Given the description of an element on the screen output the (x, y) to click on. 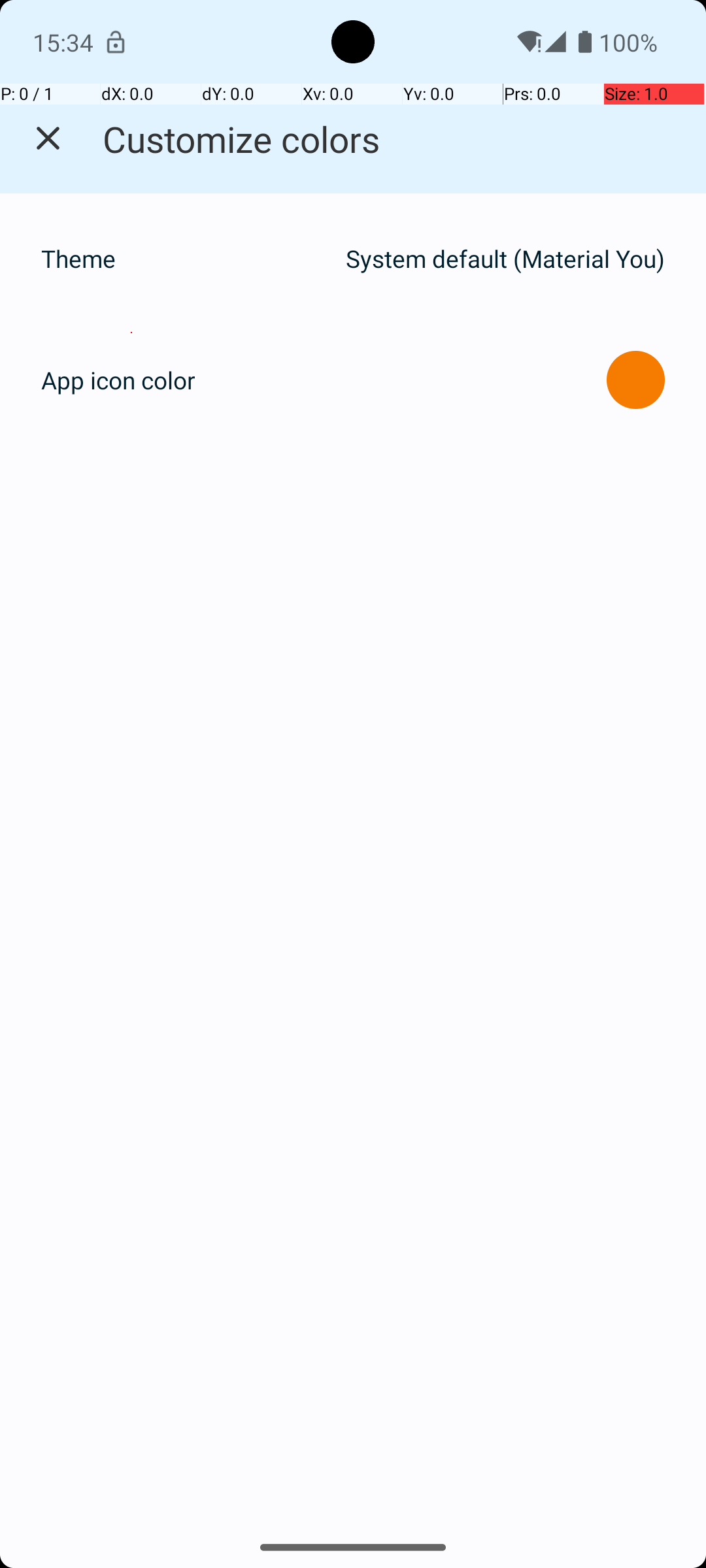
System default (Material You) Element type: android.widget.TextView (504, 258)
App icon color Element type: android.widget.TextView (118, 379)
